Given the description of an element on the screen output the (x, y) to click on. 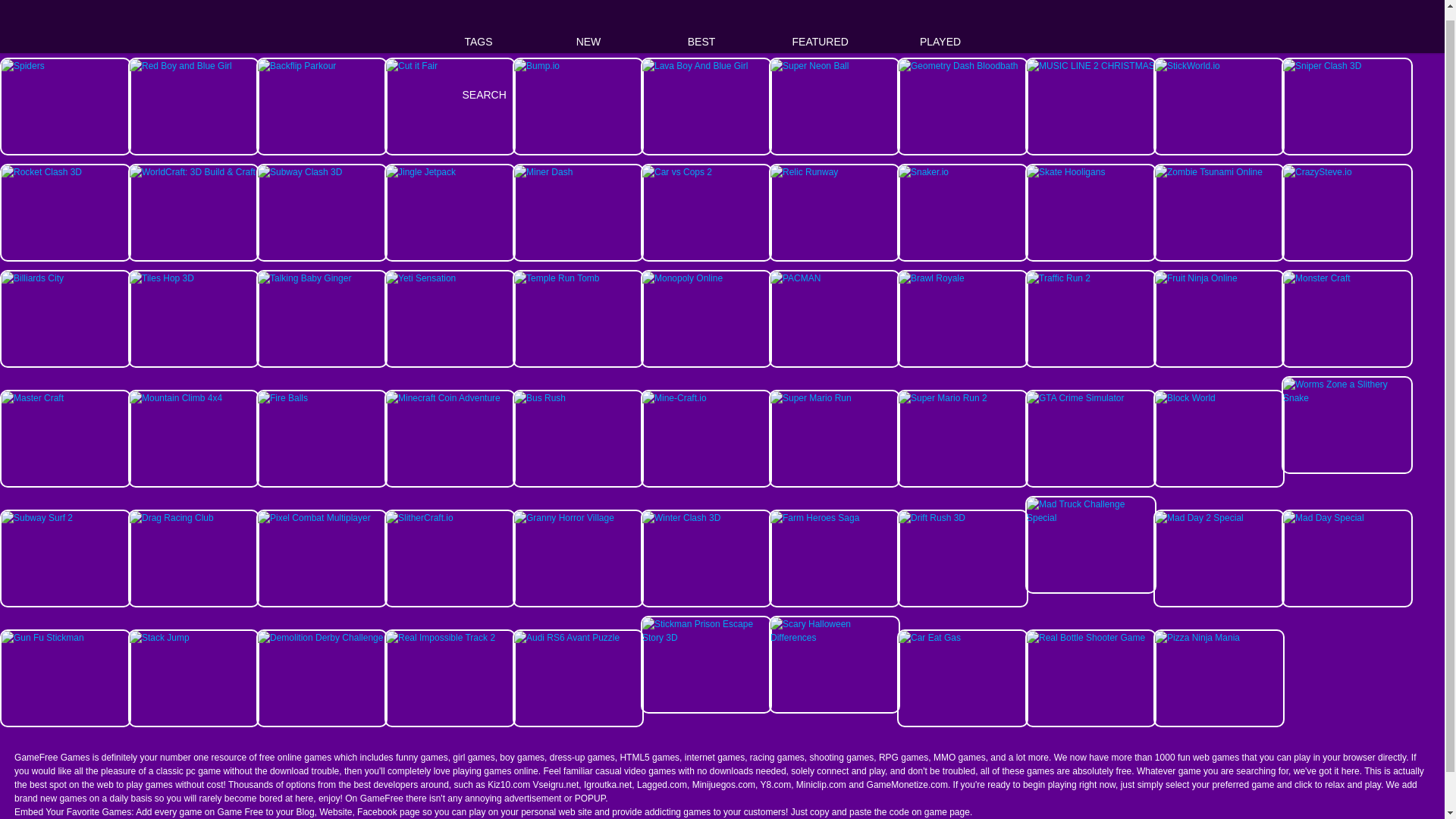
BEST (701, 21)
FEATURED (819, 21)
Play Best Free Online Games (403, 20)
SEARCH (483, 68)
TAGS (478, 21)
PLAYED (939, 21)
NEW (587, 21)
